Given the description of an element on the screen output the (x, y) to click on. 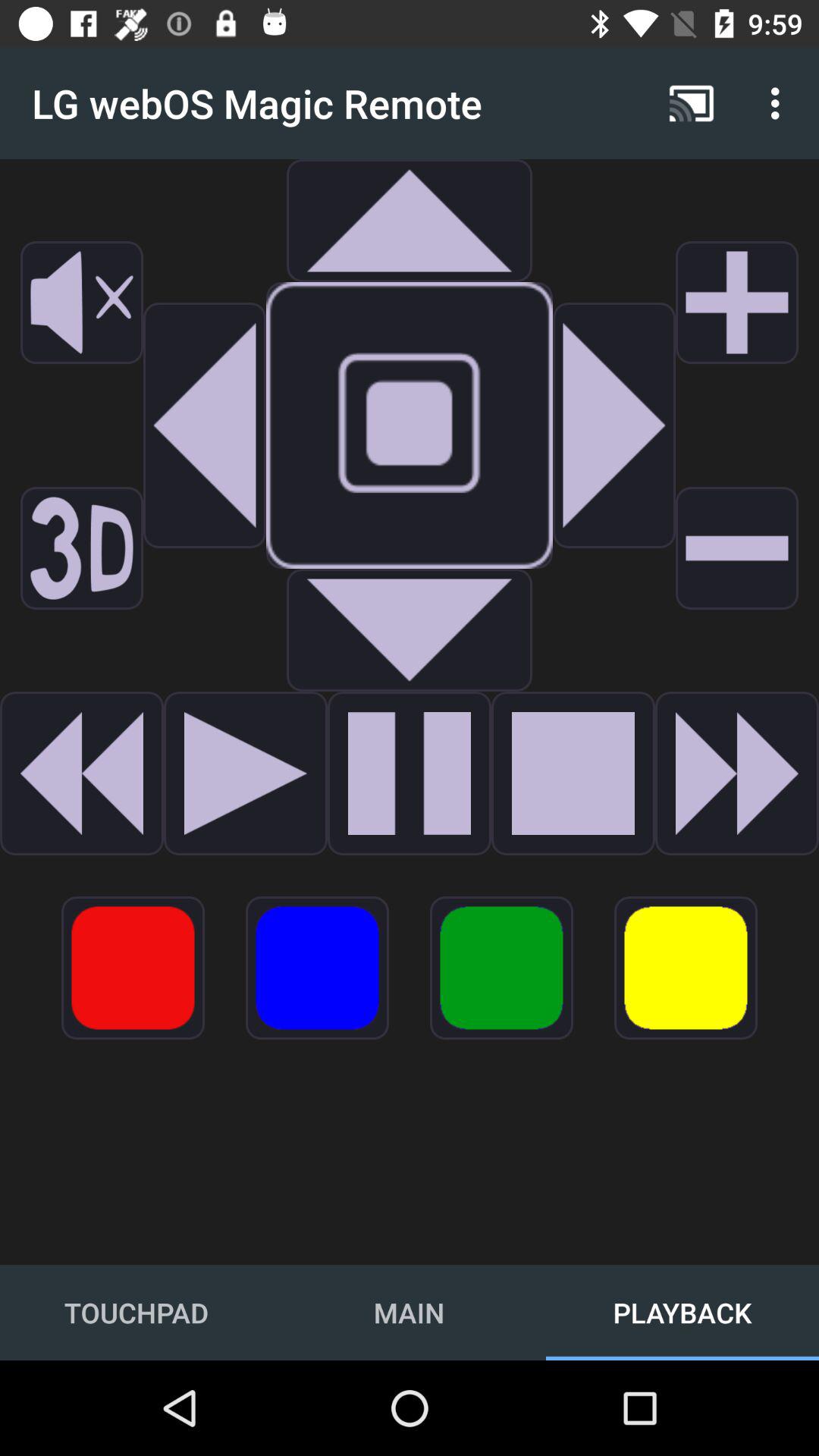
select the red colow option (132, 967)
